Given the description of an element on the screen output the (x, y) to click on. 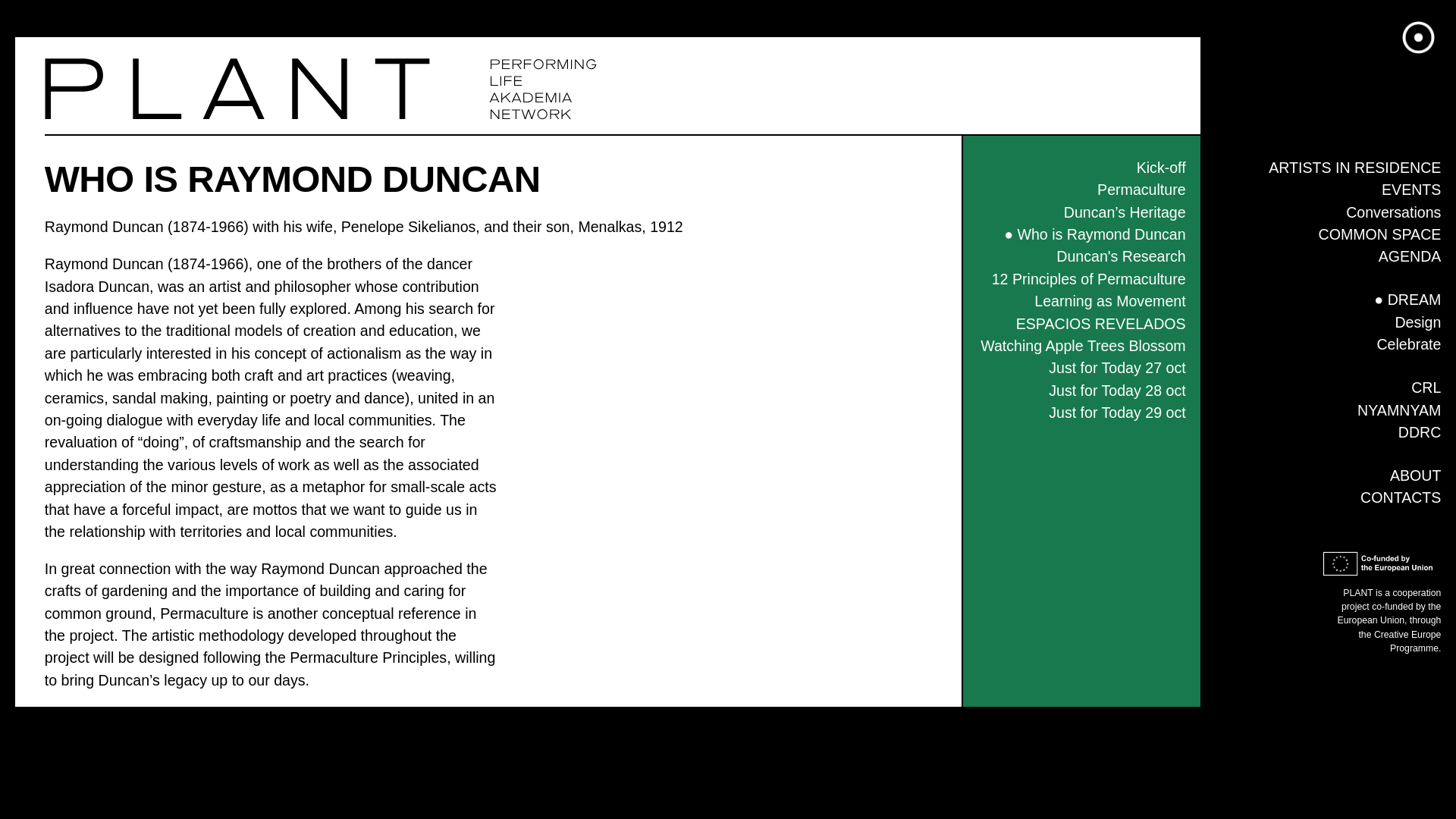
EVENTS (1411, 189)
Performing Life Akademia Network (237, 88)
ESPACIOS REVELADOS (1101, 323)
Who is Raymond Duncan (1094, 234)
DDRC (1419, 432)
Just for Today 27 oct (1116, 367)
Kick-off (1161, 167)
Watching Apple Trees Blossom (1082, 345)
ARTISTS IN RESIDENCE (1354, 167)
COMMON SPACE (1380, 234)
ABOUT (1415, 475)
Conversations (1393, 211)
AGENDA (1409, 256)
Learning as Movement (1109, 300)
Skip to content (49, 10)
